Given the description of an element on the screen output the (x, y) to click on. 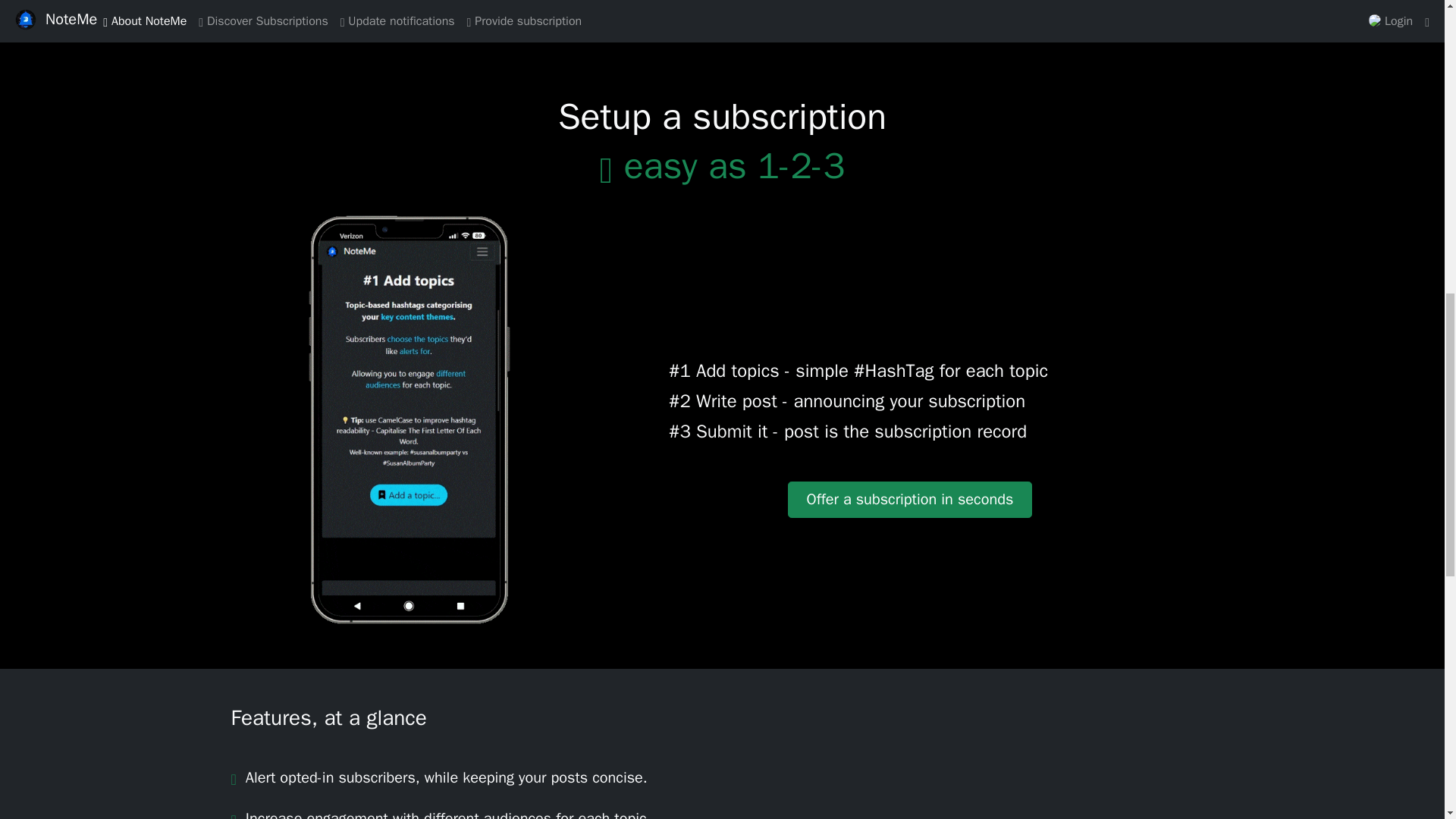
Offer a subscription in seconds (909, 499)
